Given the description of an element on the screen output the (x, y) to click on. 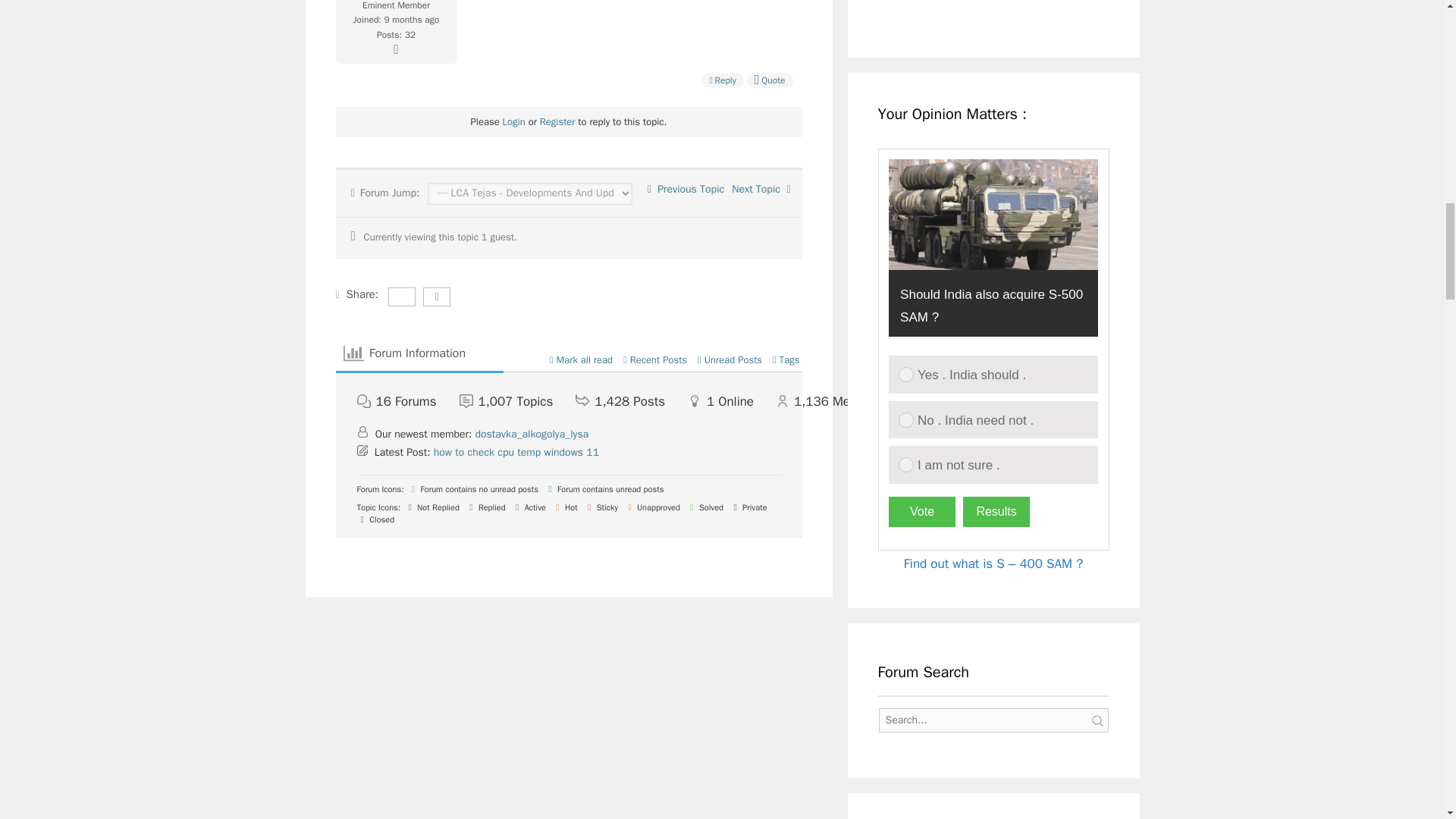
3 (906, 464)
1 (906, 374)
2 (906, 419)
Vote (921, 511)
Results (995, 511)
